Given the description of an element on the screen output the (x, y) to click on. 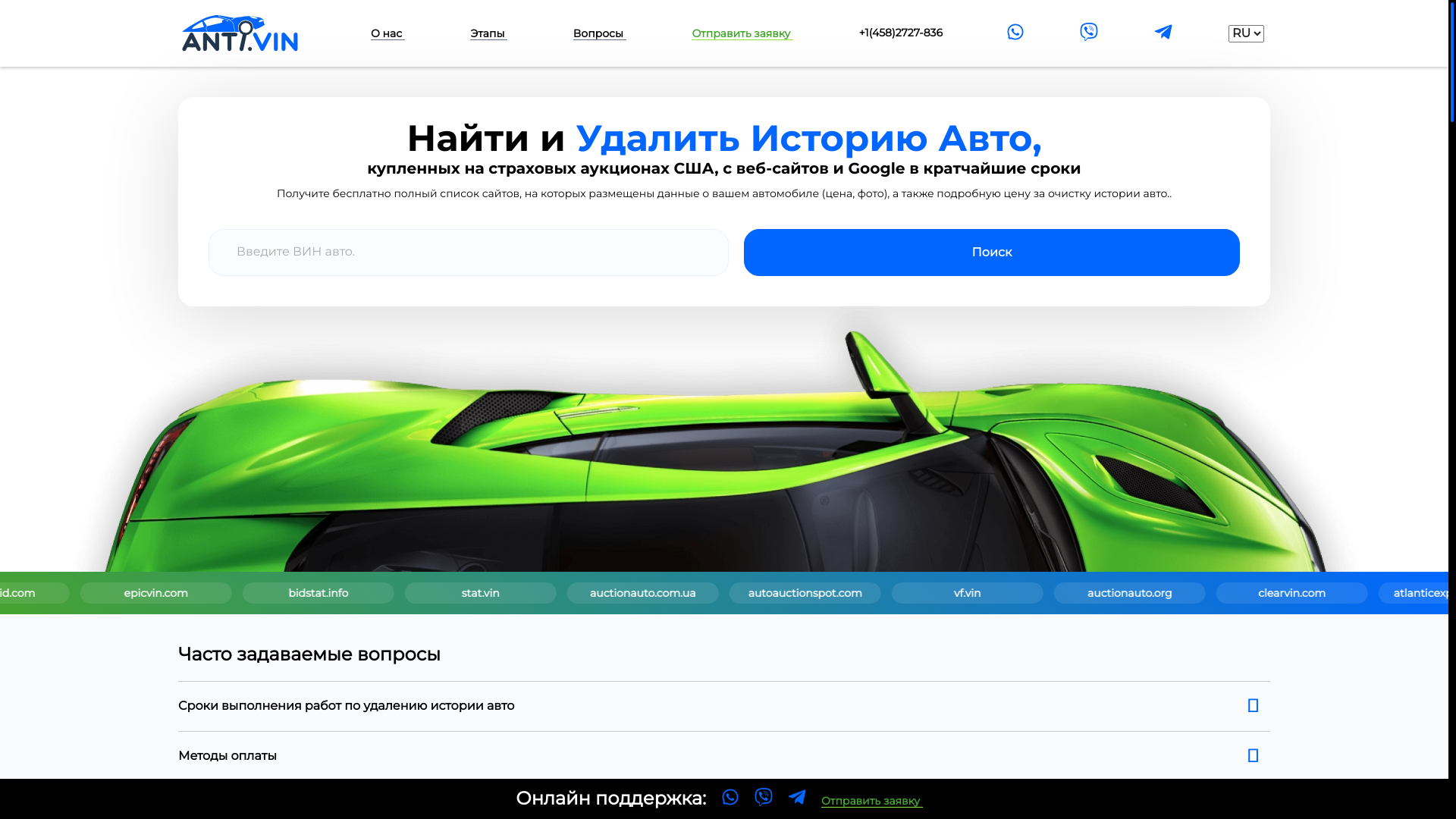
vf.vin Element type: text (1388, 592)
epicvin.com Element type: text (585, 592)
autoauctionspot.com Element type: text (1227, 592)
auctionauto.com.ua Element type: text (1066, 592)
auctionauto.uz Element type: text (263, 592)
stat.vin Element type: text (906, 592)
salvagebid.com Element type: text (423, 592)
+1(458)2727-836 Element type: text (900, 32)
bidstat.info Element type: text (745, 592)
auctionauto.kg Element type: text (105, 592)
